Given the description of an element on the screen output the (x, y) to click on. 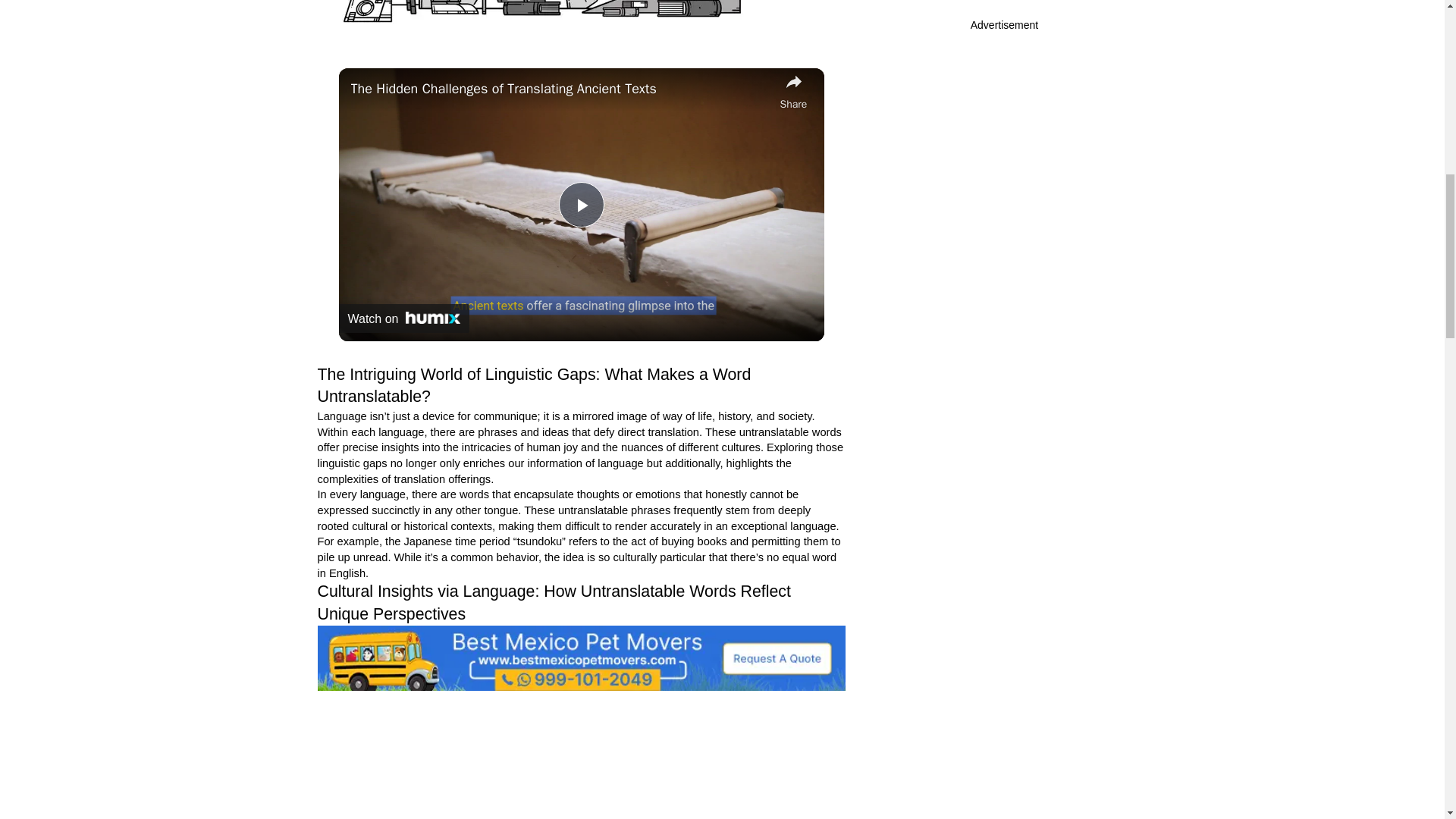
Play Video (580, 204)
